Given the description of an element on the screen output the (x, y) to click on. 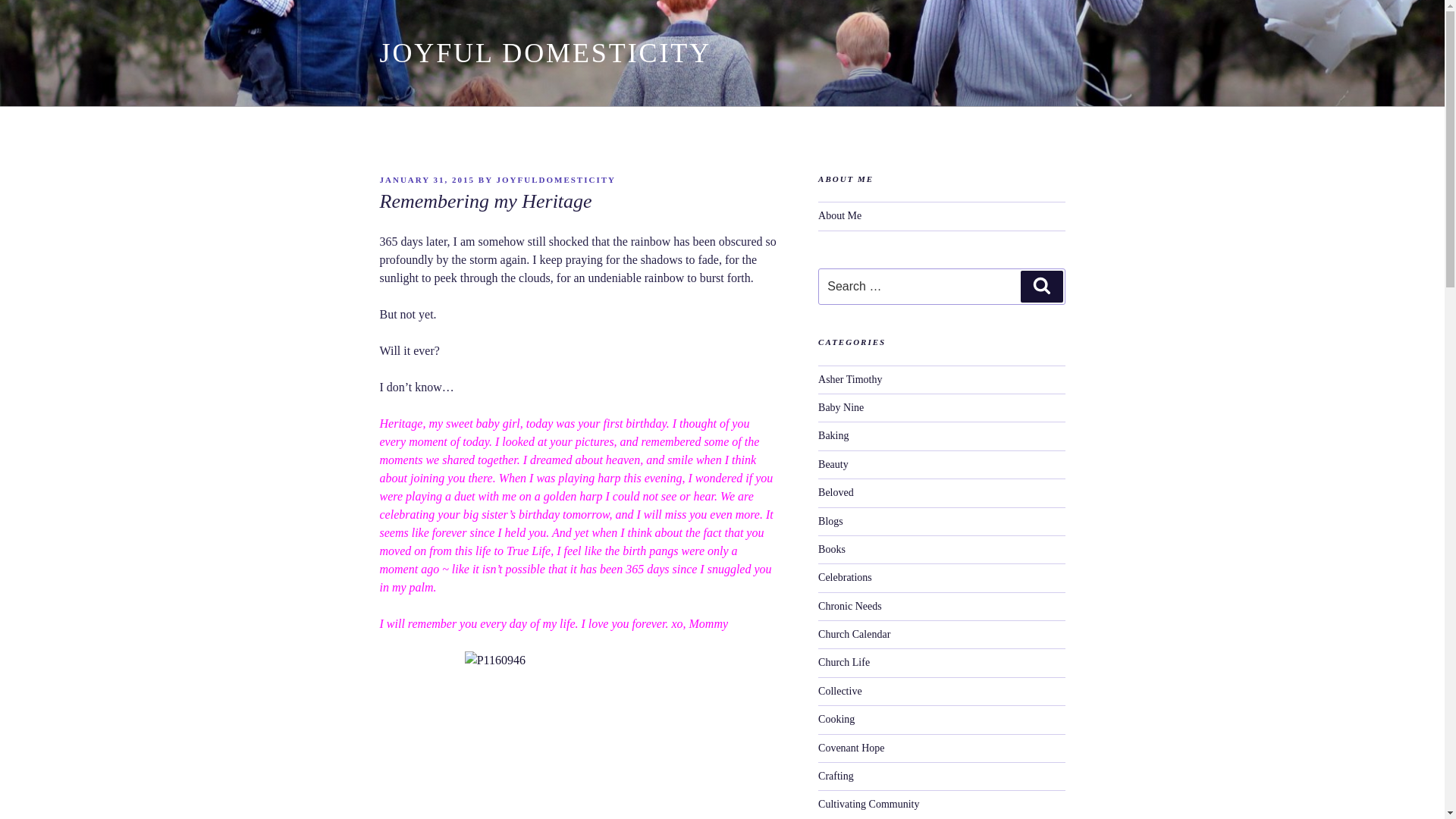
Church Calendar (853, 633)
JOYFULDOMESTICITY (555, 179)
Covenant Hope (850, 747)
Beauty (833, 464)
Search (1041, 286)
Celebrations (845, 577)
Baby Nine (840, 407)
Chronic Needs (850, 605)
JANUARY 31, 2015 (426, 179)
Cultivating Community (868, 803)
